Given the description of an element on the screen output the (x, y) to click on. 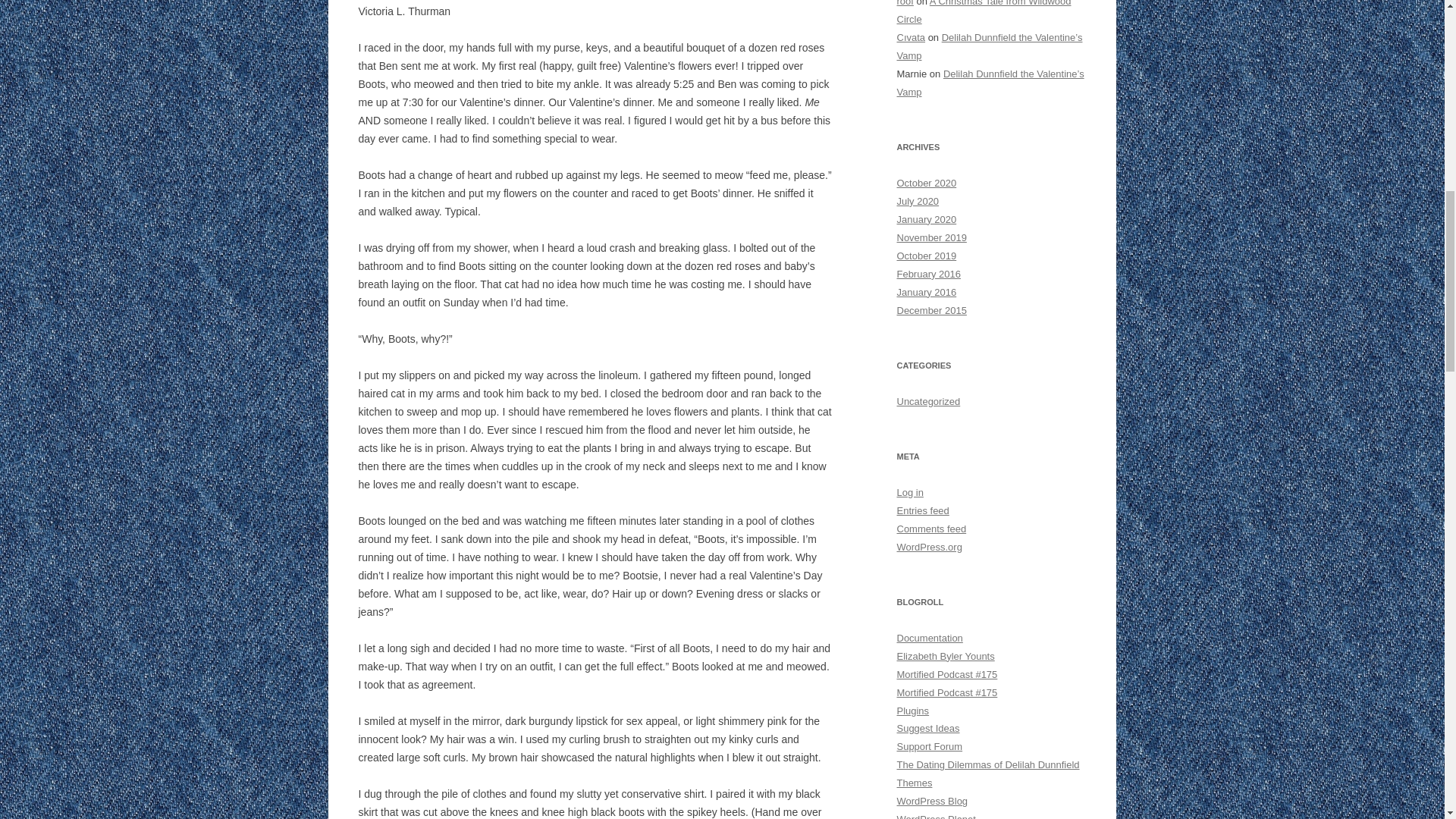
October 2020 (926, 183)
Mortified (946, 674)
my first book (987, 764)
author (945, 655)
A Christmas Tale from Wildwood Circle (983, 12)
January 2020 (926, 219)
November 2019 (931, 237)
July 2020 (917, 201)
roof (904, 3)
